Given the description of an element on the screen output the (x, y) to click on. 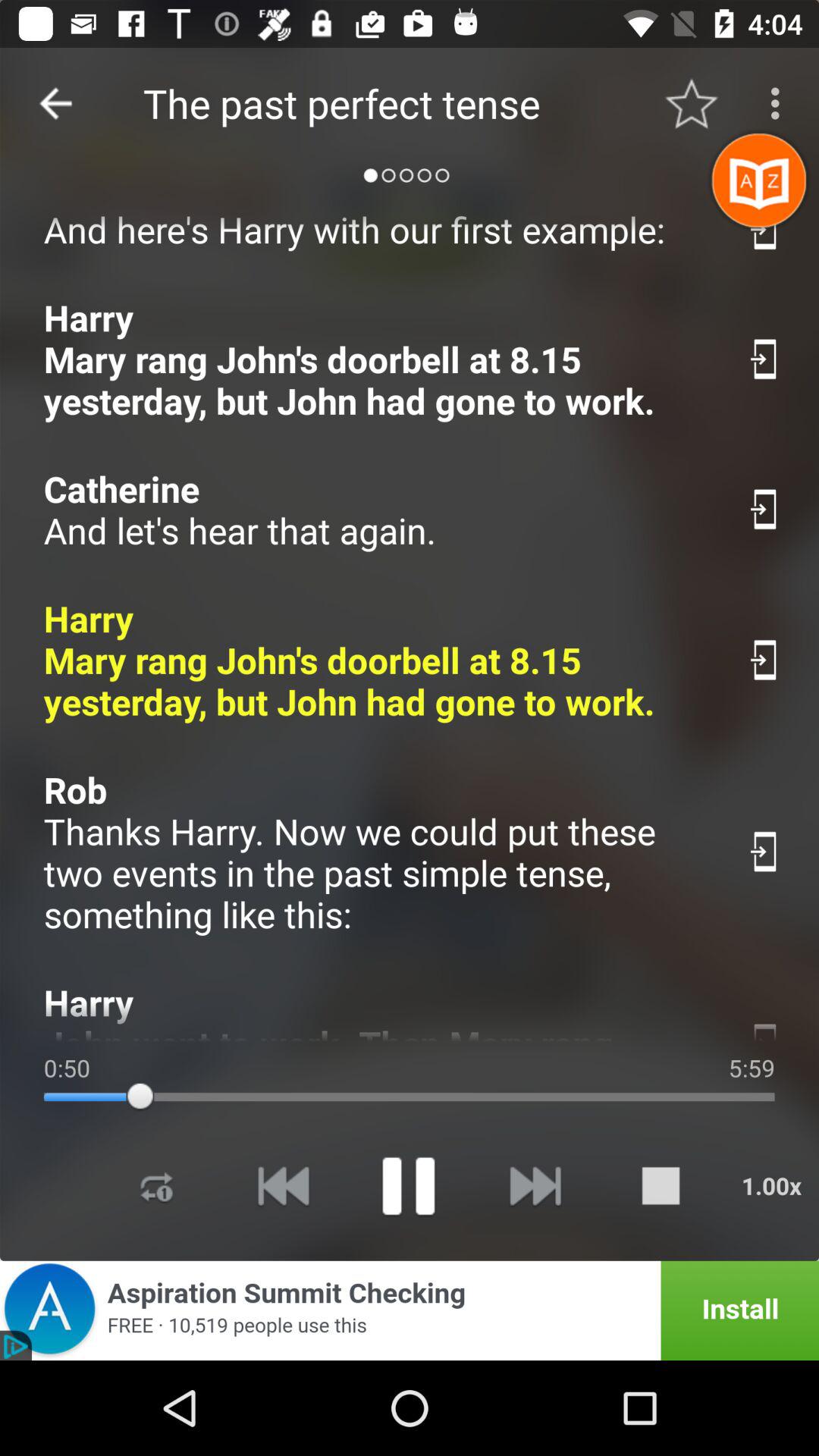
turn on item to the left of the the past perfect item (55, 103)
